Given the description of an element on the screen output the (x, y) to click on. 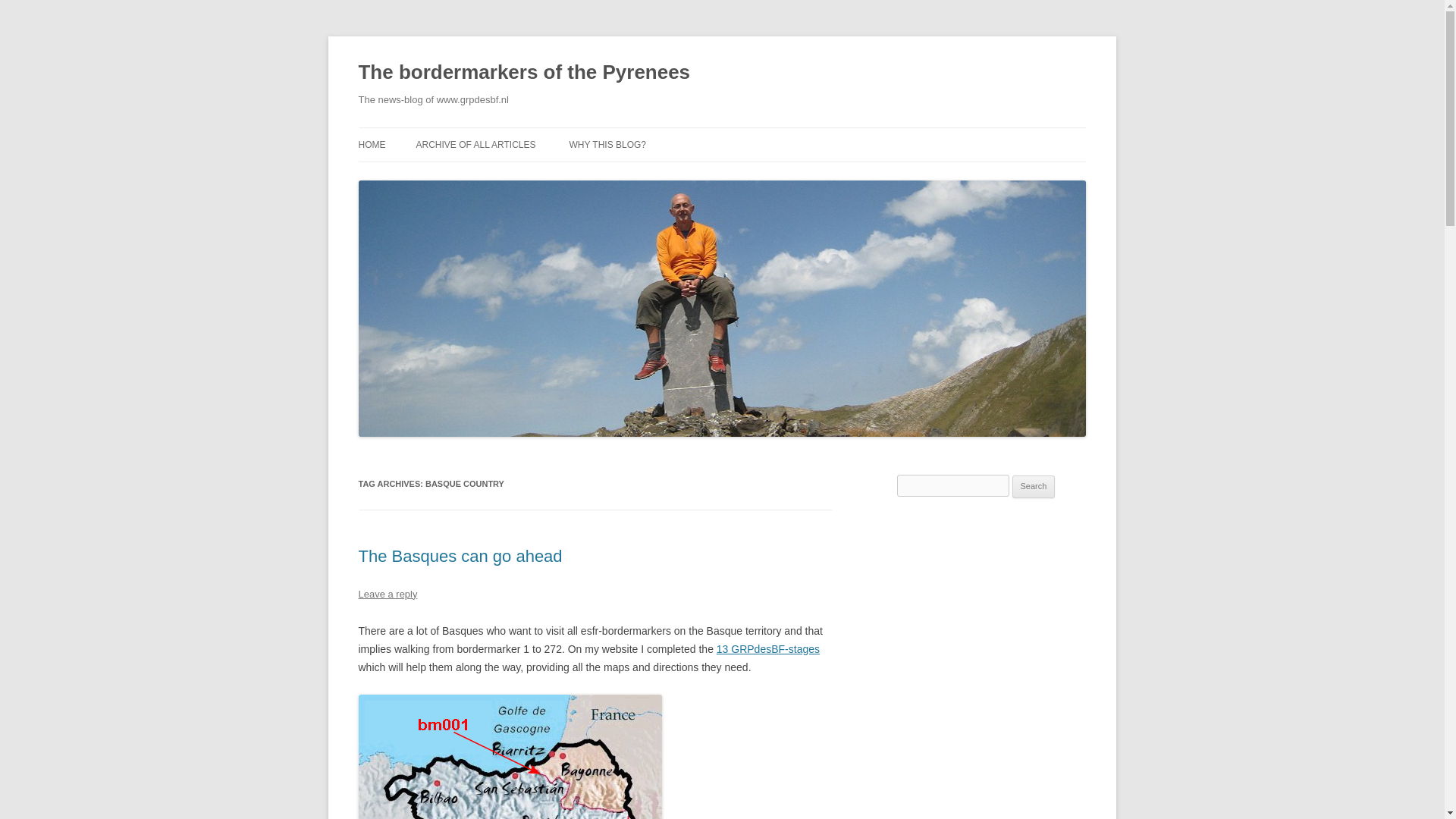
Search (1033, 486)
13 GRPdesBF-stages (767, 648)
The Basques can go ahead (460, 556)
ARCHIVE OF ALL ARTICLES (474, 144)
The bordermarkers of the Pyrenees (524, 72)
WHY THIS BLOG? (607, 144)
Leave a reply (387, 593)
